Given the description of an element on the screen output the (x, y) to click on. 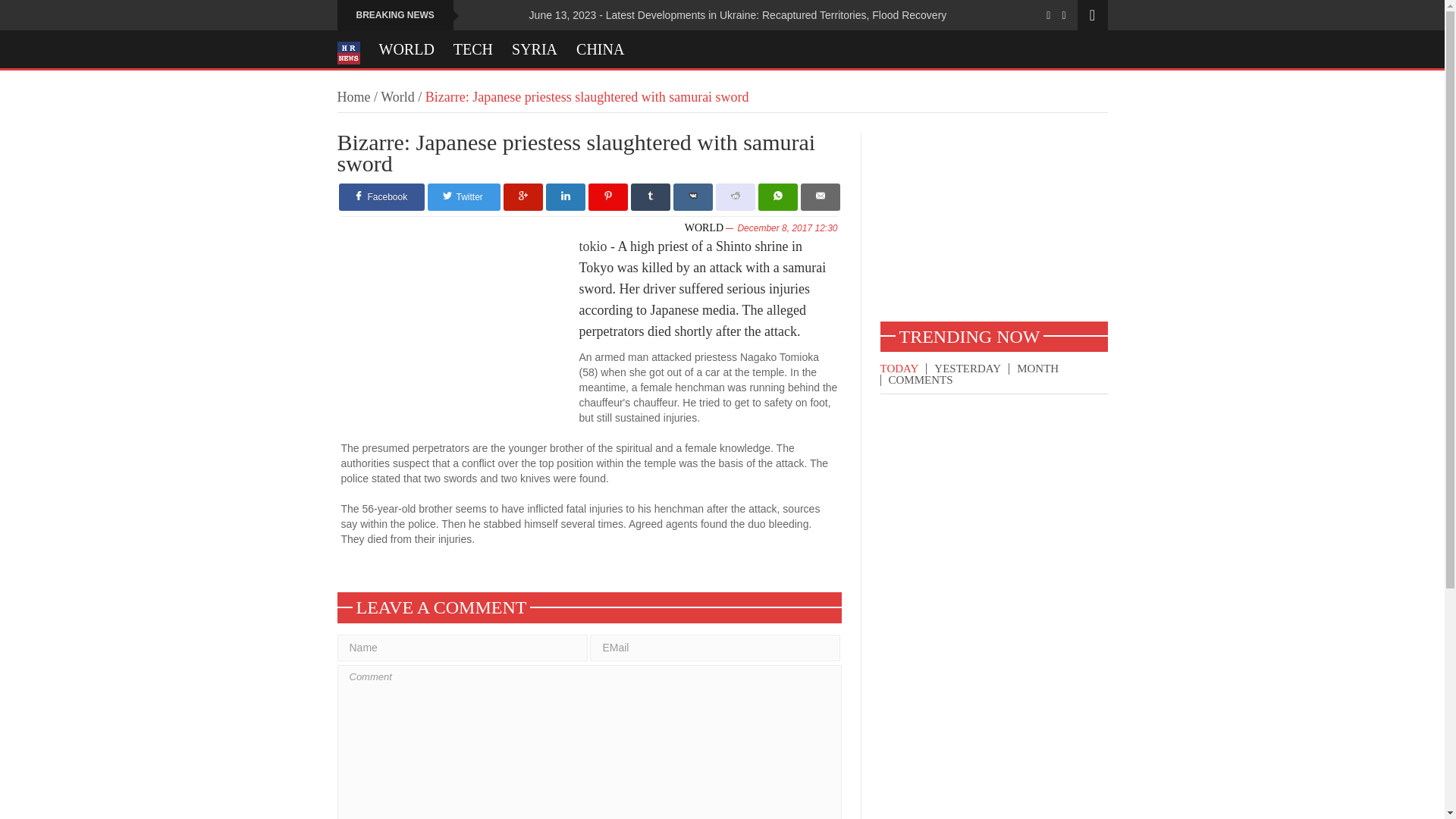
Home (352, 96)
tokio (593, 246)
WORLD (703, 227)
Advertisement (992, 226)
CHINA (600, 48)
WORLD (405, 48)
TECH (472, 48)
World (397, 96)
Advertisement (459, 335)
